Given the description of an element on the screen output the (x, y) to click on. 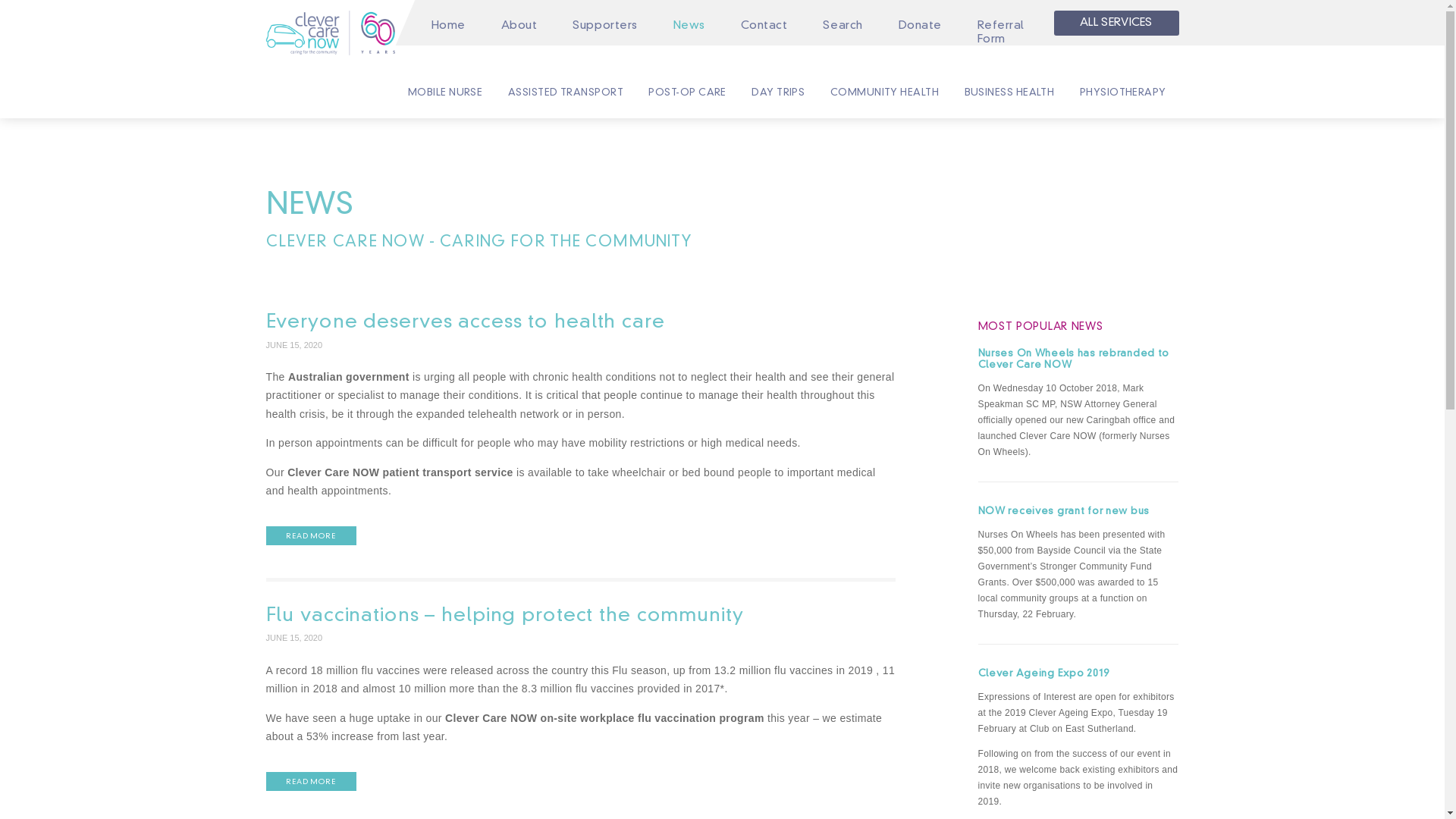
READ MORE Element type: text (310, 535)
PHYSIOTHERAPY Element type: text (1122, 93)
ASSISTED TRANSPORT Element type: text (564, 93)
BUSINESS HEALTH Element type: text (1009, 93)
Nurses On Wheels has rebranded to Clever Care NOW Element type: text (1078, 359)
Home Element type: text (447, 25)
POST-OP CARE Element type: text (687, 93)
About Element type: text (518, 25)
COMMUNITY HEALTH Element type: text (884, 93)
Contact Element type: text (763, 25)
READ MORE Element type: text (310, 780)
Clever Care NOW on-site workplace flu vaccination program Element type: text (606, 718)
News Element type: text (688, 25)
DAY TRIPS Element type: text (777, 93)
ALL SERVICES Element type: text (1116, 22)
NOW receives grant for new bus Element type: text (1078, 511)
Supporters Element type: text (605, 25)
Clever Ageing Expo 2019 Element type: text (1078, 674)
Search Element type: text (842, 25)
Donate Element type: text (919, 25)
Clever Care NOW patient transport service Element type: text (401, 472)
Everyone deserves access to health care Element type: text (580, 323)
MOBILE NURSE Element type: text (444, 93)
Australian government Element type: text (348, 376)
Referral Form Element type: text (1000, 32)
